Given the description of an element on the screen output the (x, y) to click on. 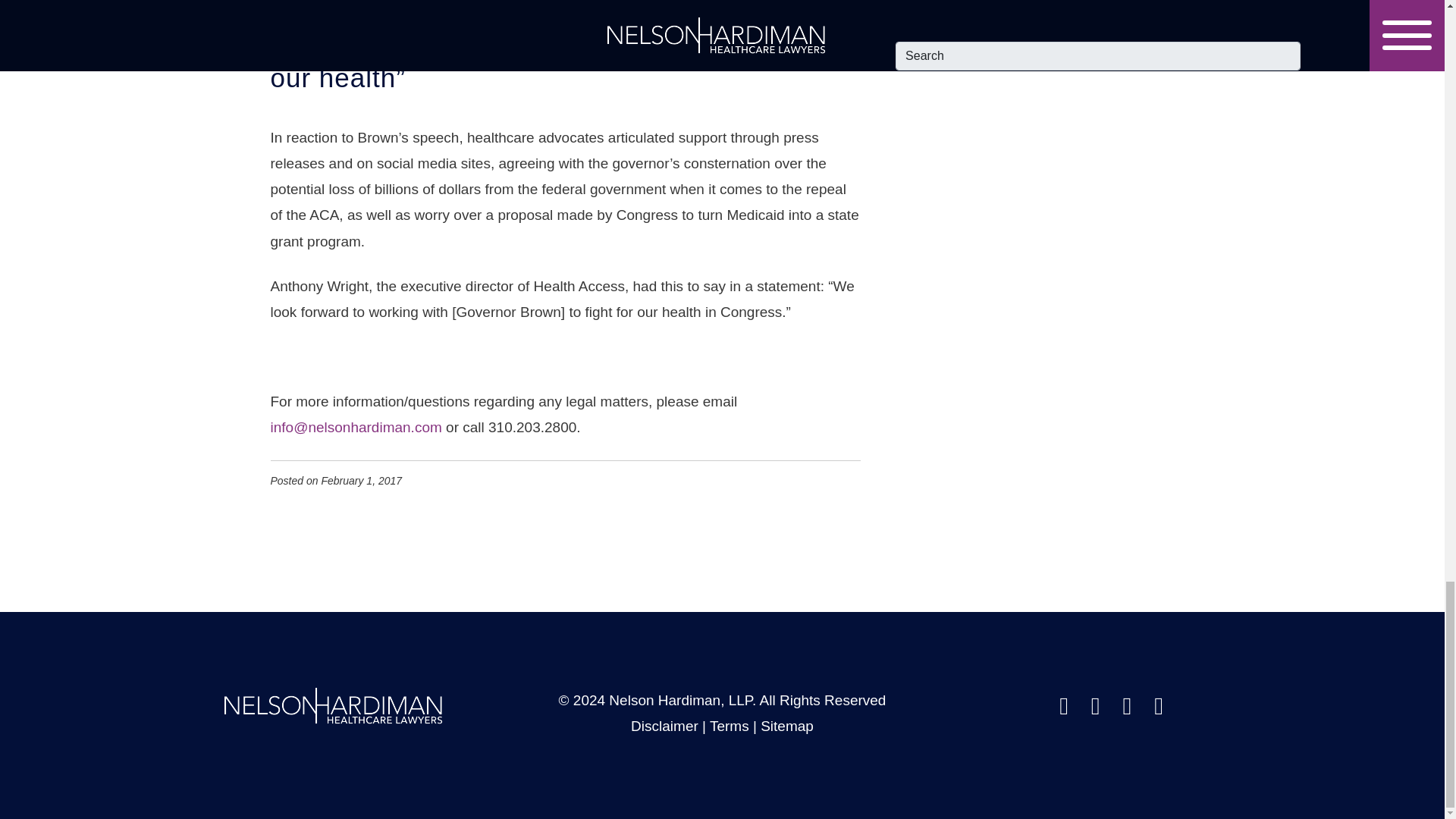
Terms (729, 725)
Sitemap (786, 725)
Disclaimer (664, 725)
